Given the description of an element on the screen output the (x, y) to click on. 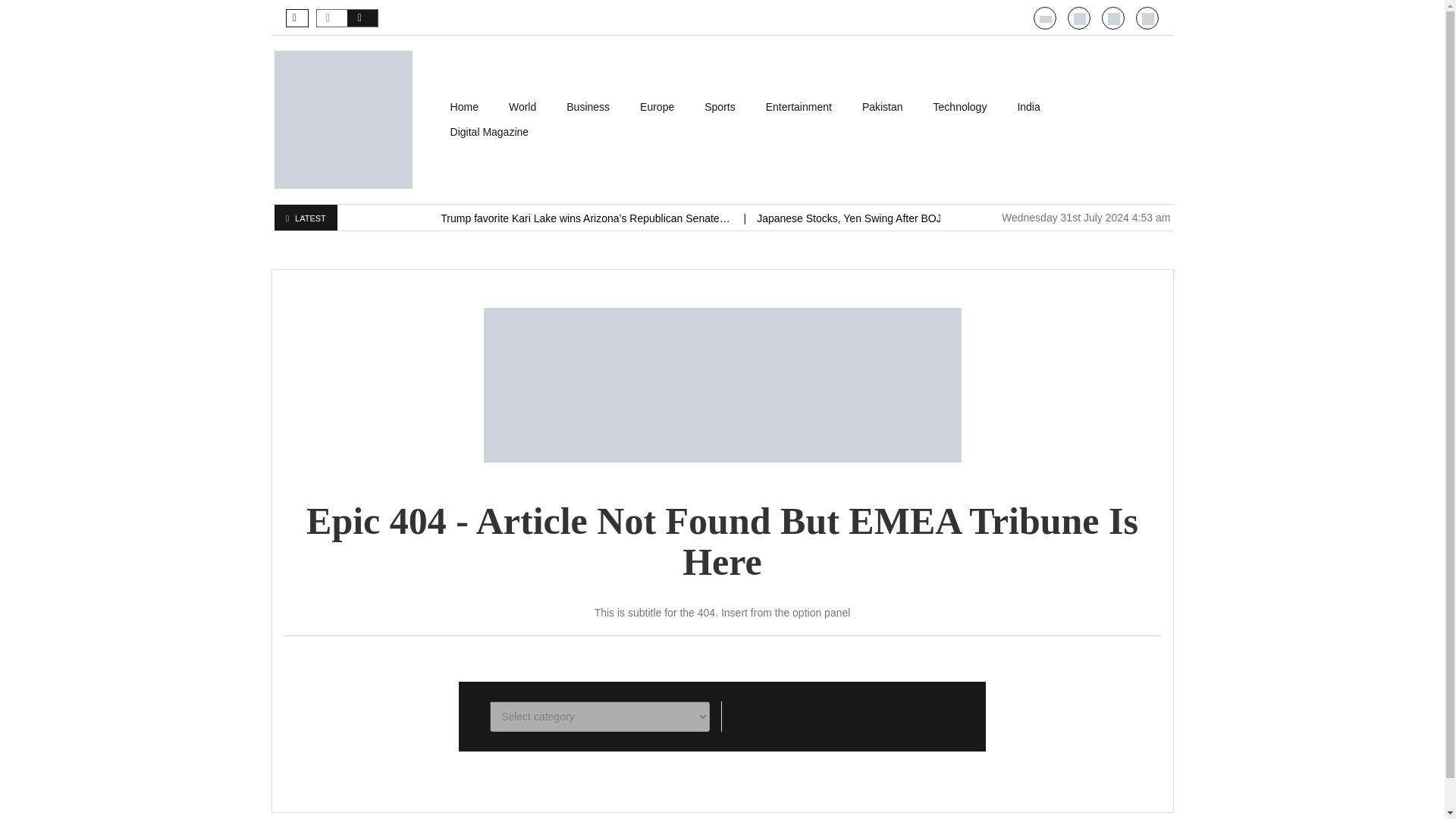
Europe (656, 107)
Digital Magazine (489, 131)
Call Us (1080, 19)
Entertainment (799, 107)
Pakistan (882, 107)
World (522, 107)
Facebook (1147, 19)
Skip to content (470, 102)
India (1027, 107)
Twitter (1113, 19)
Home (464, 107)
Skip to content (470, 102)
Technology (960, 107)
Business (587, 107)
Sports (718, 107)
